Given the description of an element on the screen output the (x, y) to click on. 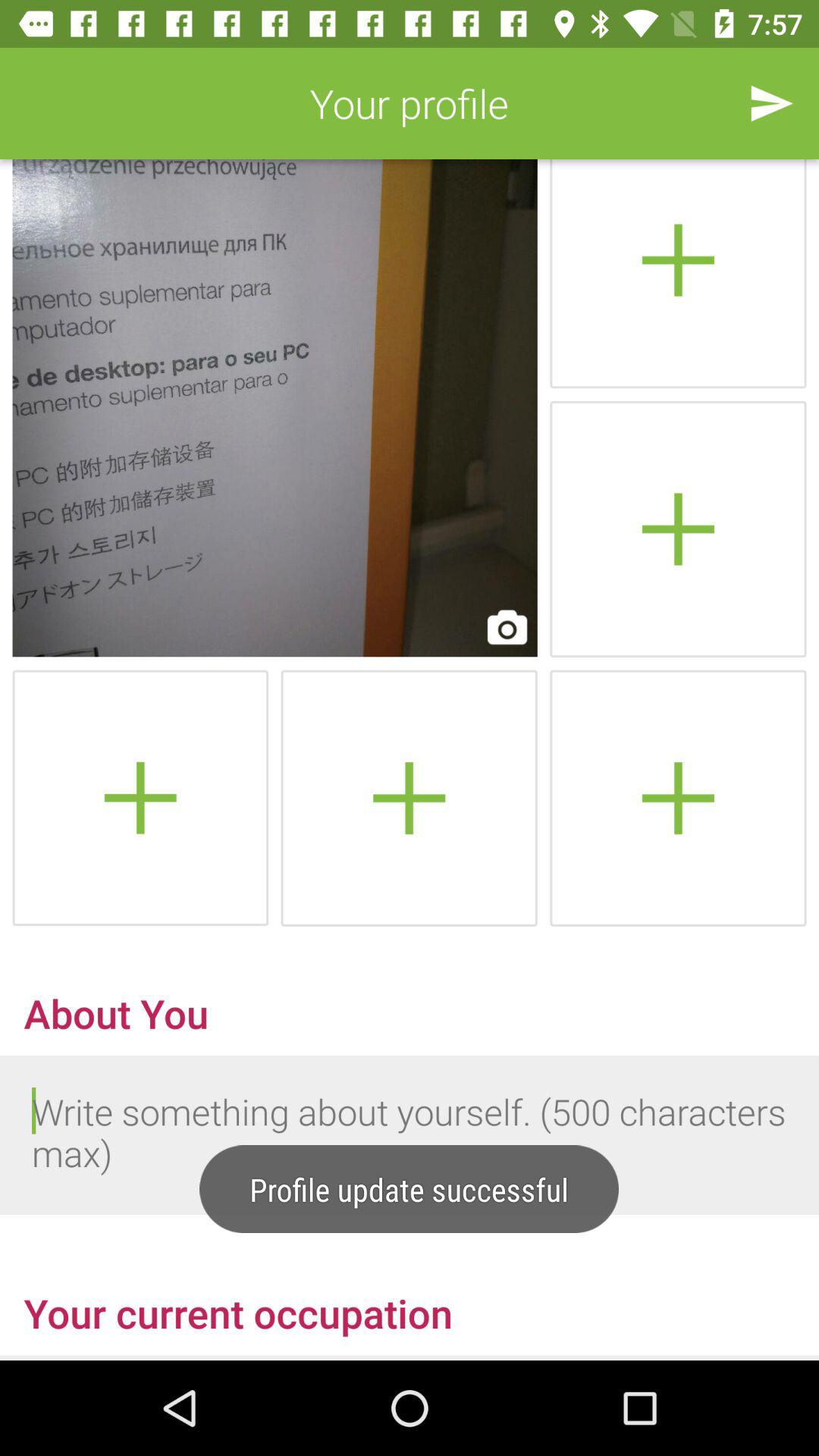
enter about you section (409, 1134)
